Given the description of an element on the screen output the (x, y) to click on. 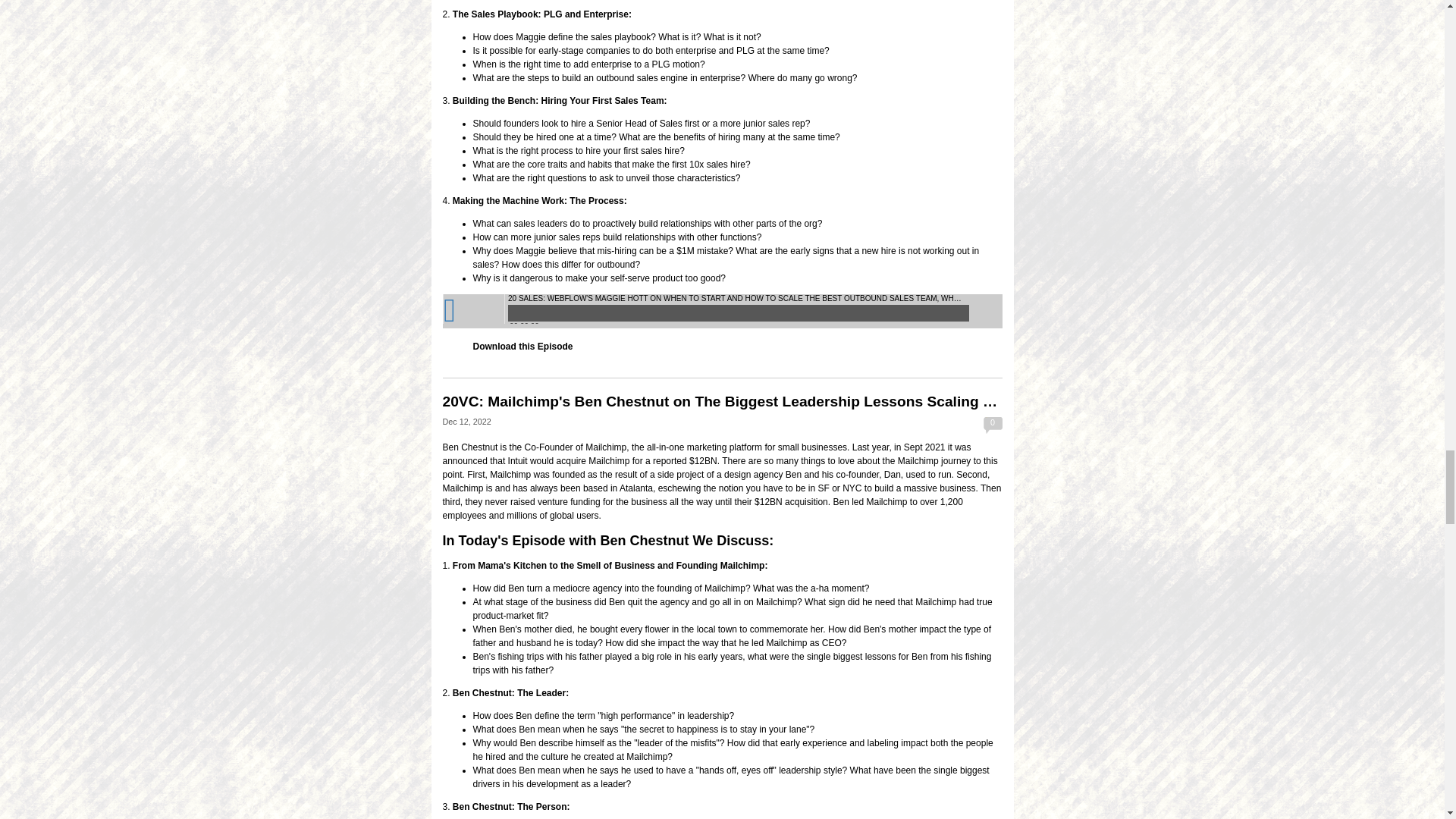
Libsyn Player (722, 311)
